Given the description of an element on the screen output the (x, y) to click on. 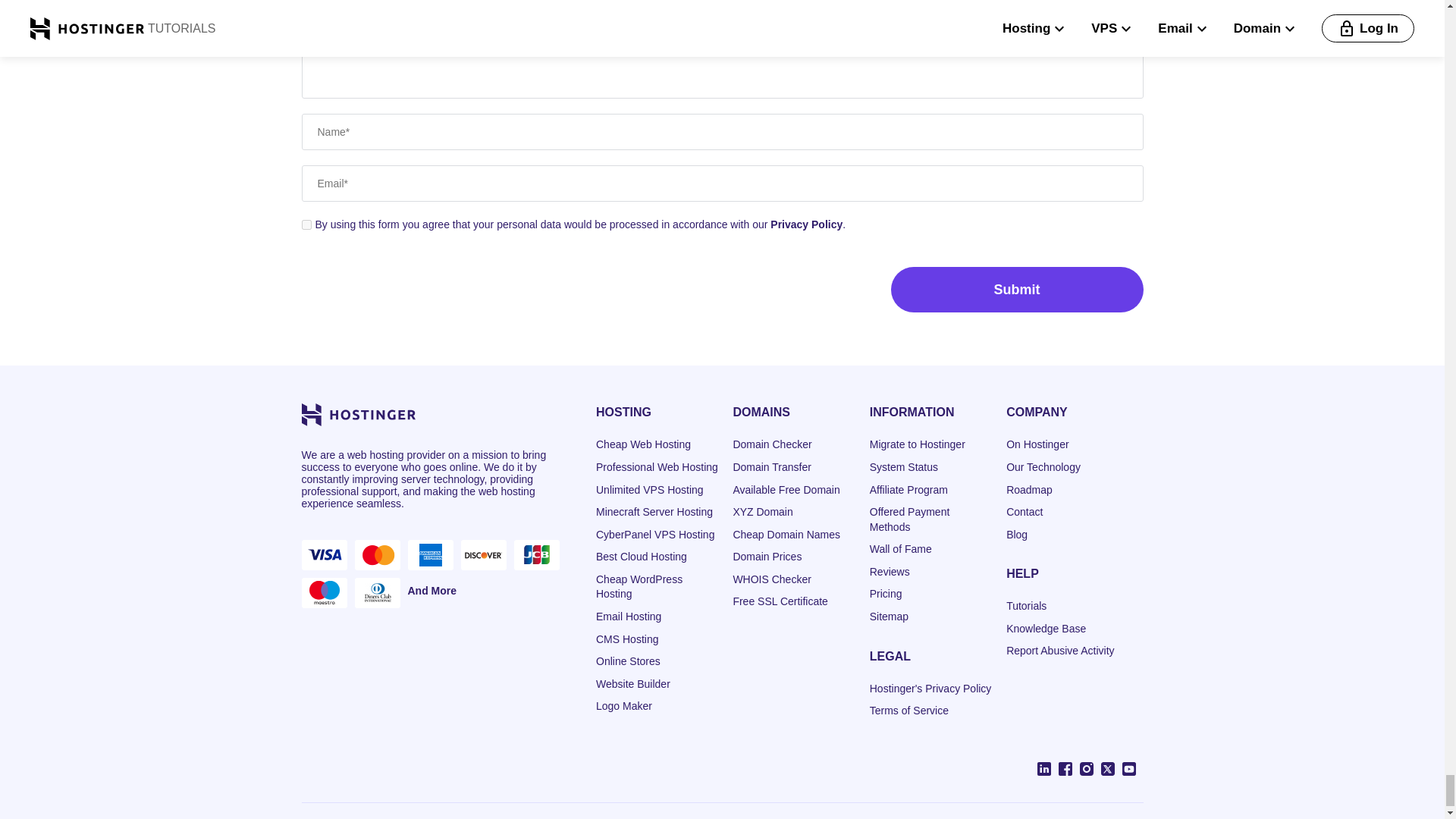
yes (306, 225)
Submit (1015, 289)
